Given the description of an element on the screen output the (x, y) to click on. 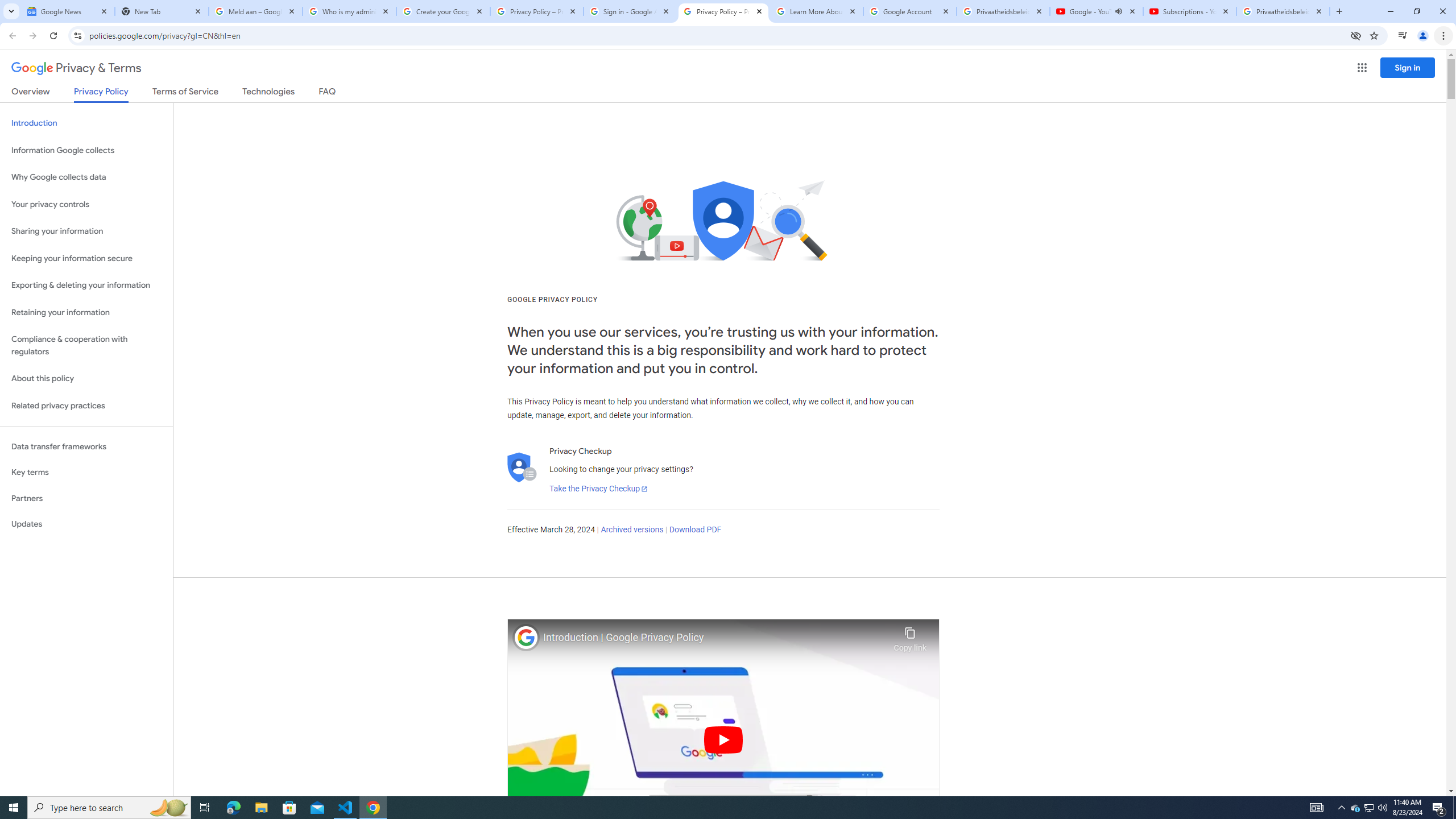
Compliance & cooperation with regulators (86, 345)
About this policy (86, 379)
Exporting & deleting your information (86, 284)
Google Account (909, 11)
Your privacy controls (86, 204)
Google - YouTube - Audio playing (1096, 11)
Photo image of Google (526, 636)
Archived versions (631, 529)
